Given the description of an element on the screen output the (x, y) to click on. 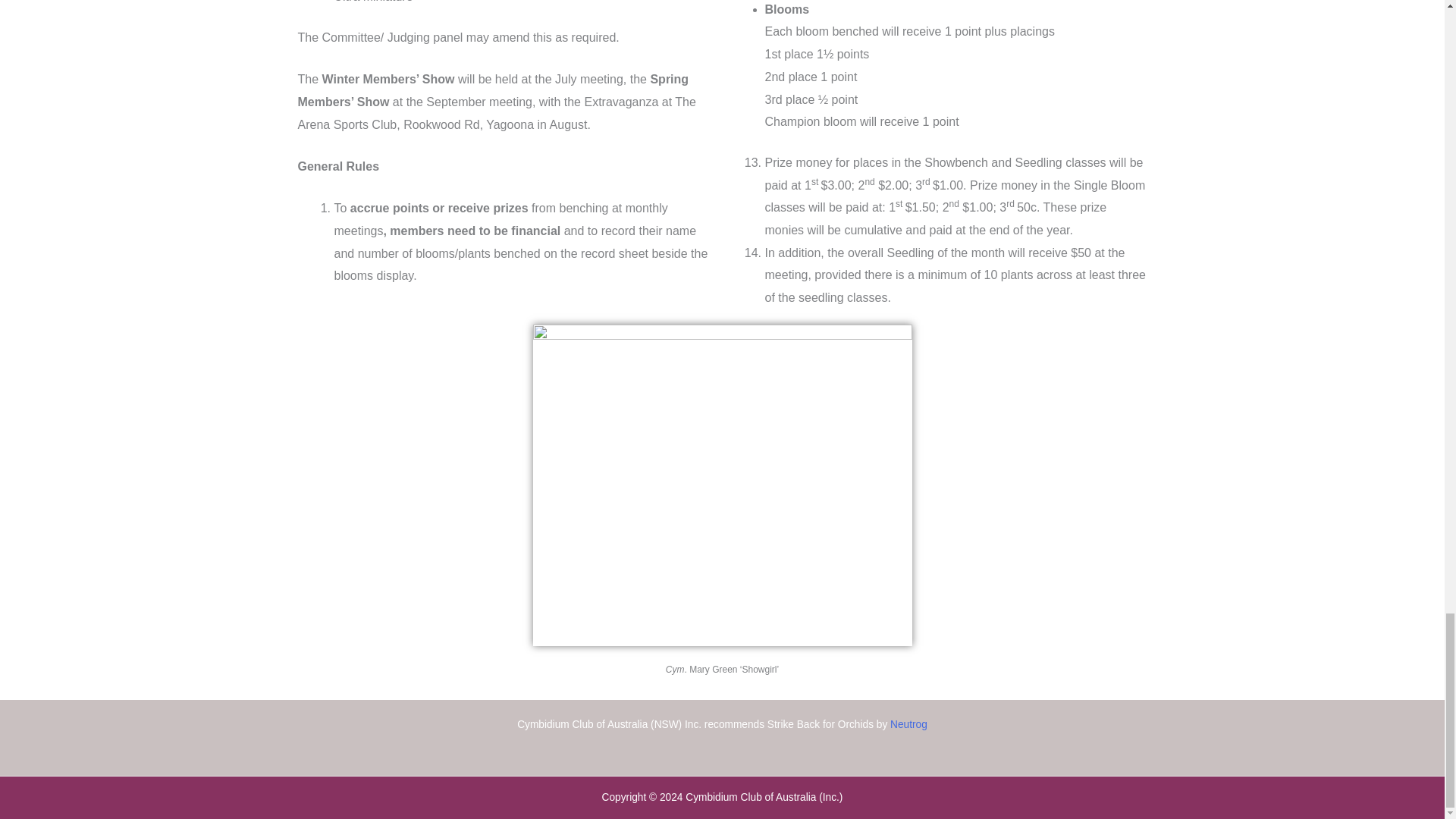
Neutrog (908, 724)
